Given the description of an element on the screen output the (x, y) to click on. 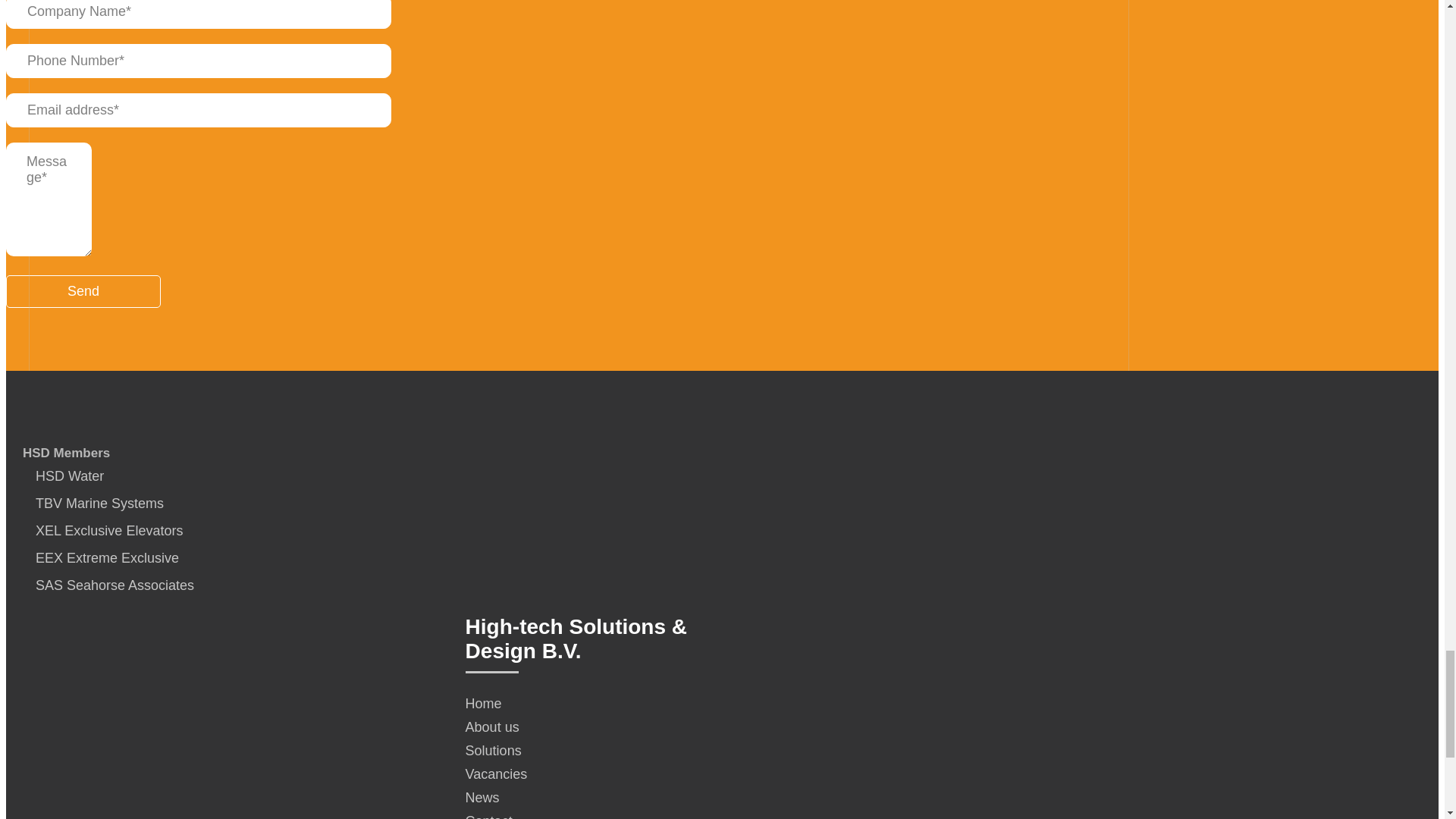
XEL Exclusive Elevators (103, 530)
Send (82, 291)
Vacancies (579, 774)
HSD Water (63, 476)
EEX Extreme Exclusive (101, 557)
SAS Seahorse Associates (108, 585)
About us (579, 727)
Home (579, 703)
Solutions (579, 750)
Contact (579, 816)
News (579, 797)
TBV Marine Systems (93, 503)
Send (82, 291)
